Given the description of an element on the screen output the (x, y) to click on. 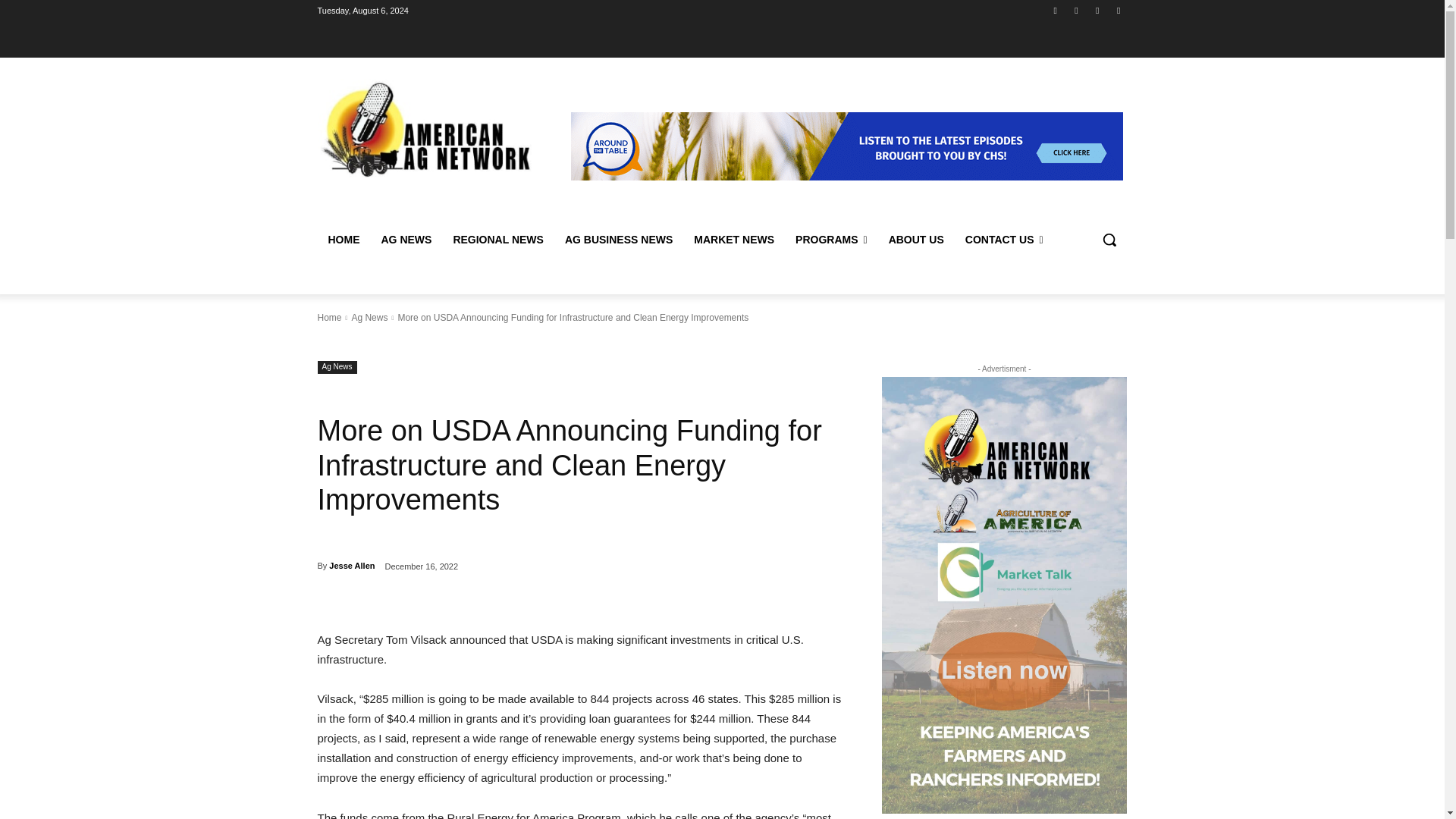
REGIONAL NEWS (498, 239)
AG BUSINESS NEWS (618, 239)
HOME (343, 239)
Youtube (1117, 9)
Twitter (1097, 9)
AG NEWS (405, 239)
PROGRAMS (830, 239)
Facebook (1055, 9)
MARKET NEWS (733, 239)
Instagram (1075, 9)
